Given the description of an element on the screen output the (x, y) to click on. 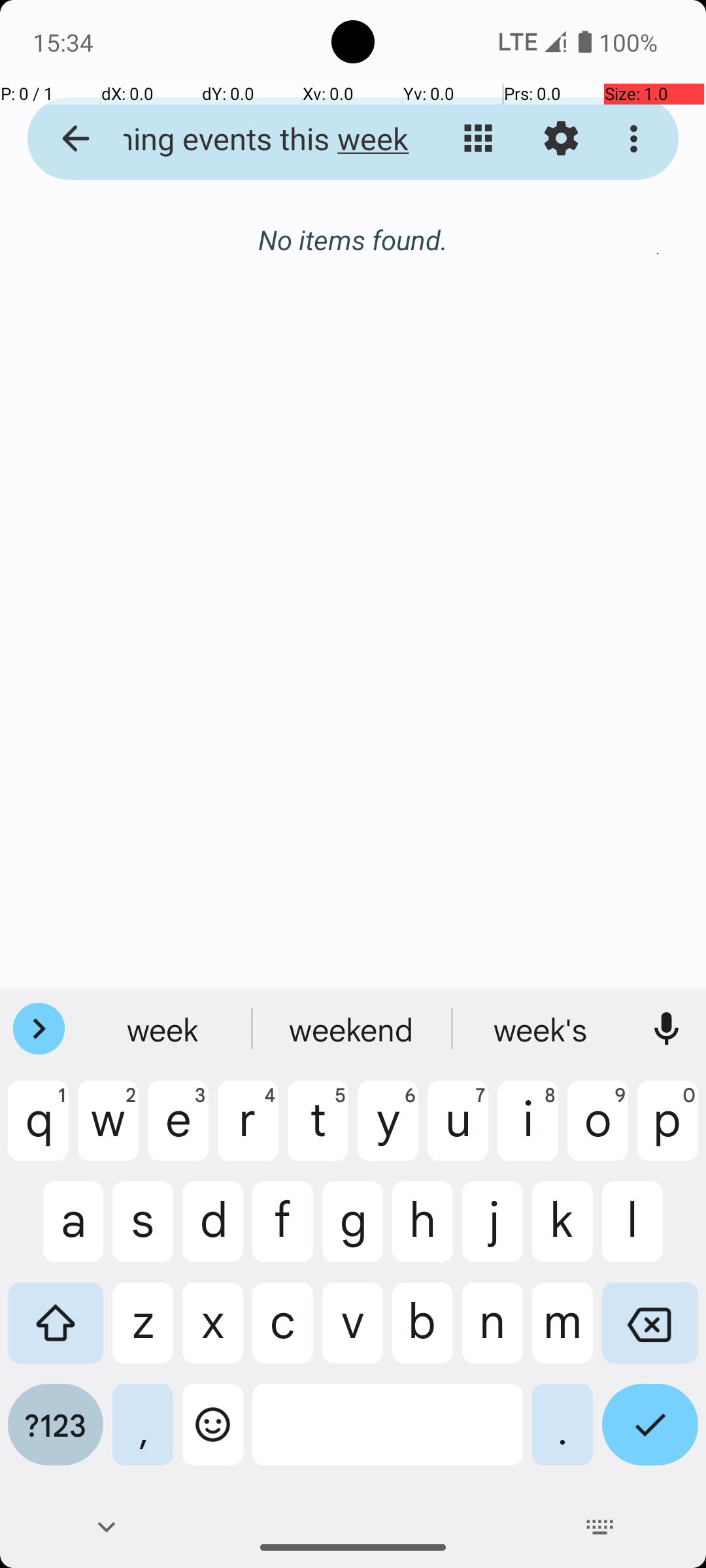
upcoming events this week Element type: android.widget.EditText (252, 138)
week Element type: android.widget.FrameLayout (163, 1028)
weekend Element type: android.widget.FrameLayout (352, 1028)
